Given the description of an element on the screen output the (x, y) to click on. 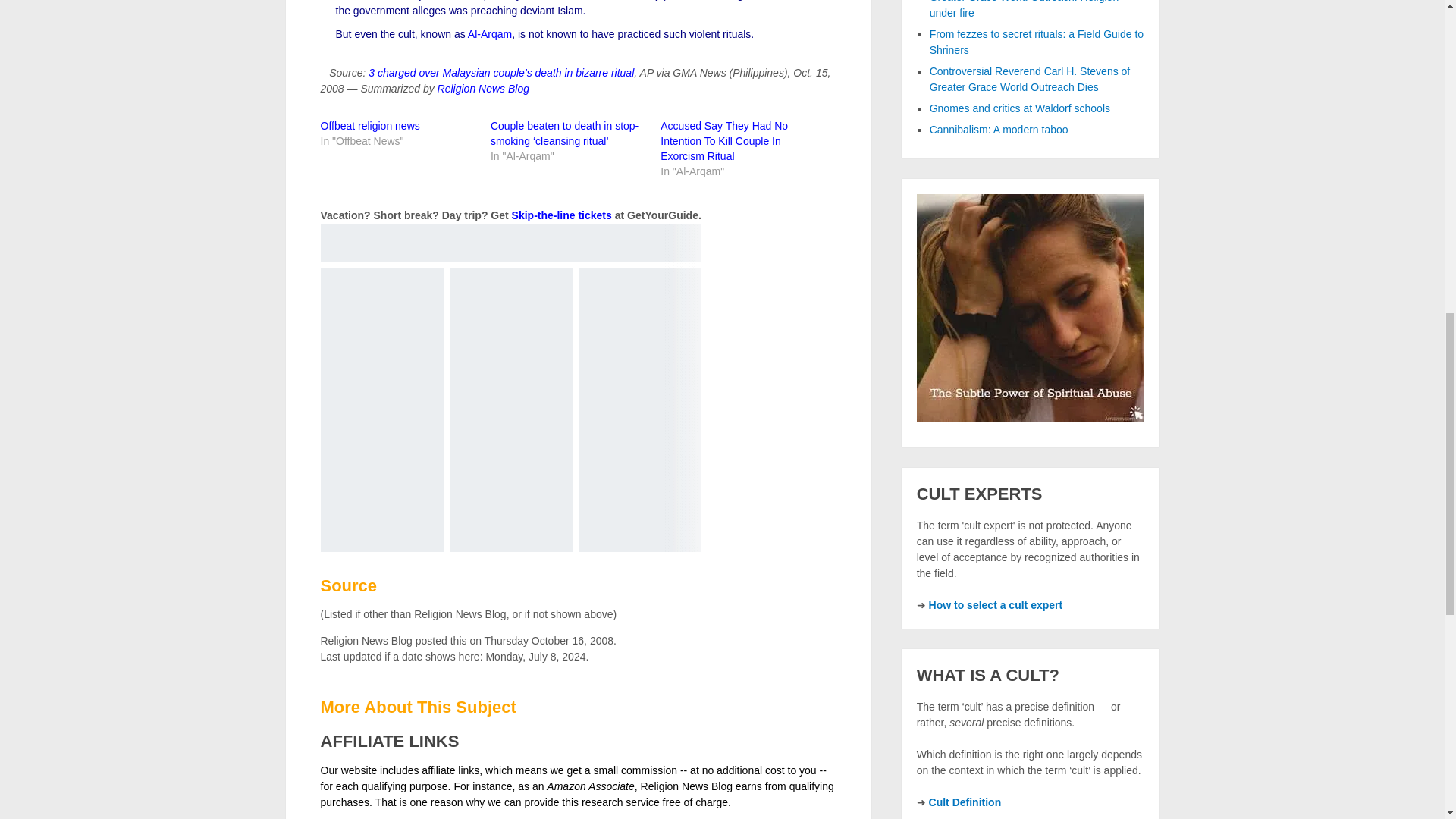
Offbeat religion news (369, 125)
Cannibalism: A modern taboo (999, 129)
GetYourGuide Widget (510, 387)
Offbeat religion news (369, 125)
Greater Grace World Outreach: Religion under fire (1024, 9)
From fezzes to secret rituals: a Field Guide to Shriners (1036, 41)
Skip-the-line tickets (561, 215)
Gnomes and critics at Waldorf schools (1019, 108)
Religion News Blog (483, 88)
Al-Arqam (489, 33)
